Given the description of an element on the screen output the (x, y) to click on. 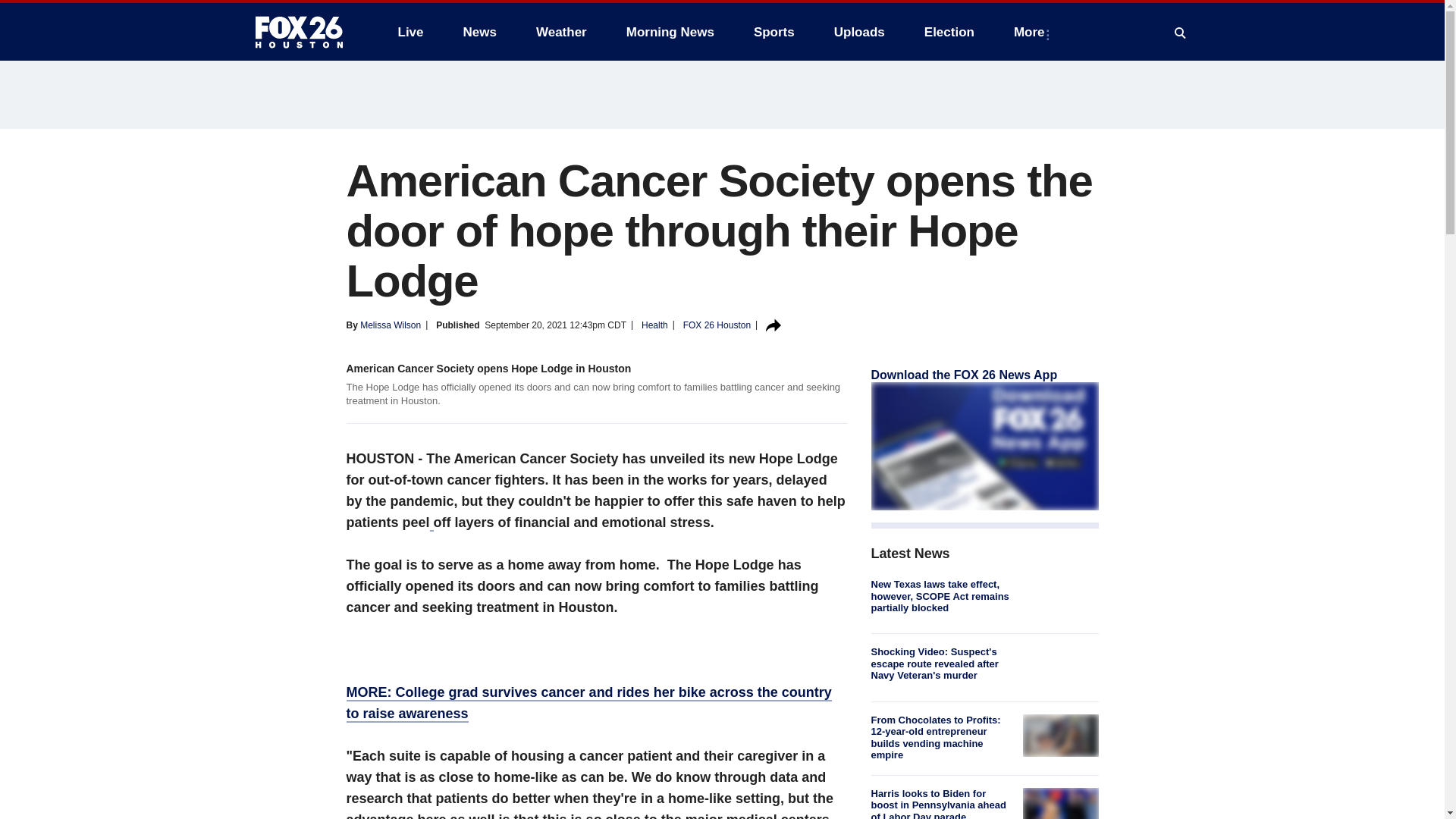
Election (949, 32)
News (479, 32)
Morning News (670, 32)
Live (410, 32)
Weather (561, 32)
Sports (773, 32)
More (1031, 32)
Uploads (859, 32)
